Given the description of an element on the screen output the (x, y) to click on. 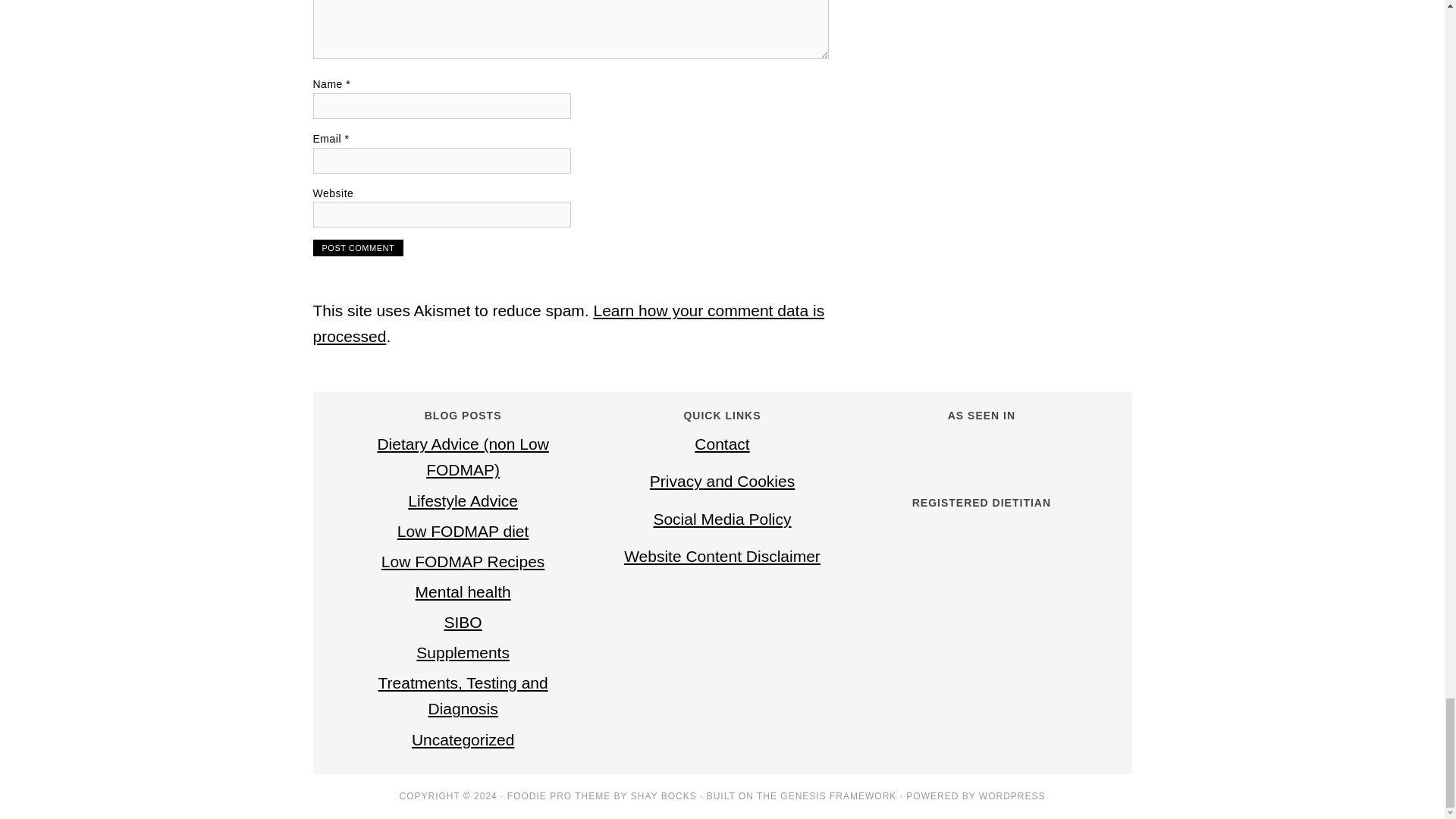
Post Comment (358, 247)
